Given the description of an element on the screen output the (x, y) to click on. 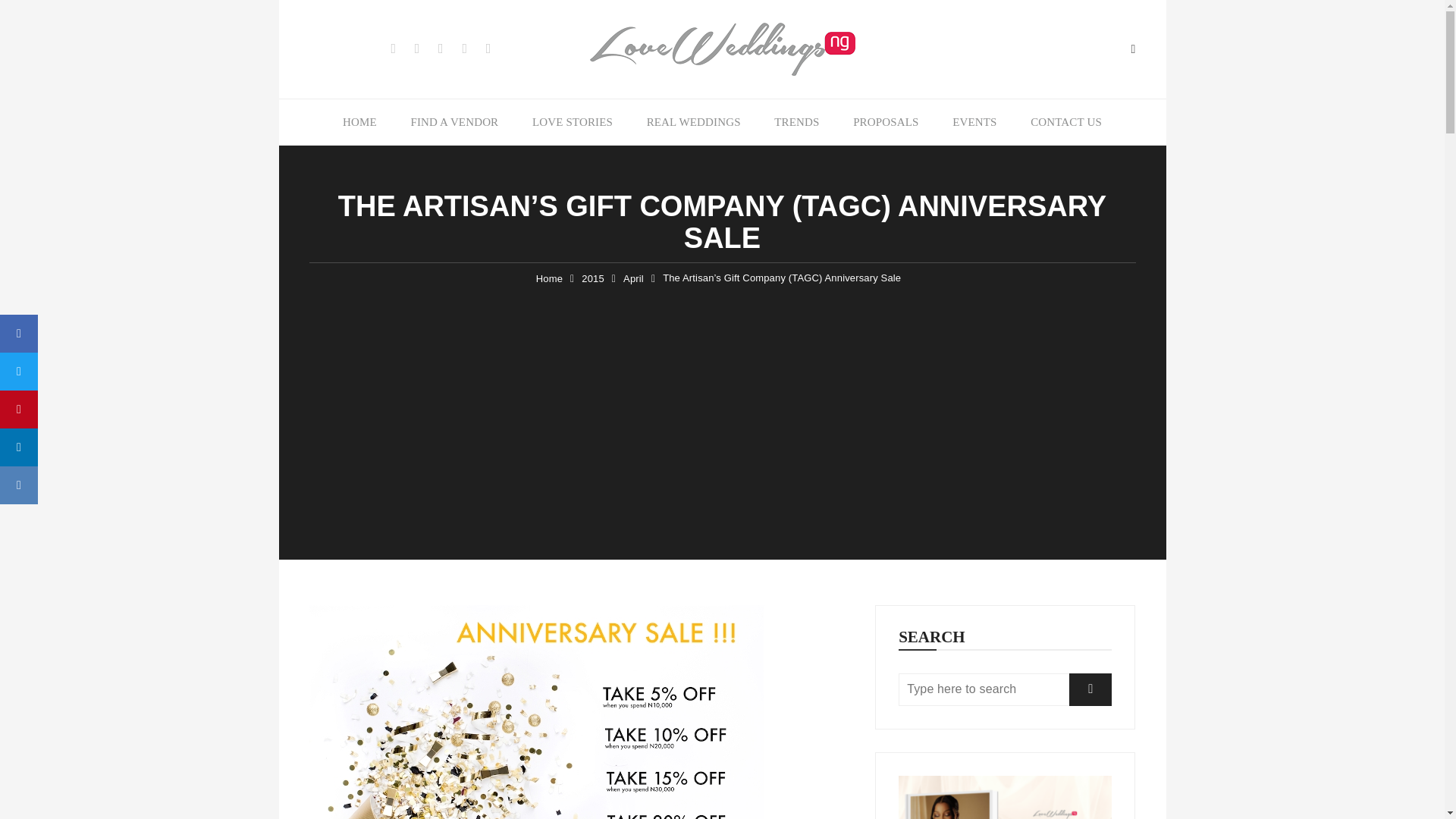
FIND A VENDOR (453, 121)
Home (548, 278)
REAL WEDDINGS (693, 121)
TRENDS (796, 121)
HOME (359, 121)
CONTACT US (1065, 121)
EVENTS (974, 121)
April (633, 278)
PROPOSALS (885, 121)
